Given the description of an element on the screen output the (x, y) to click on. 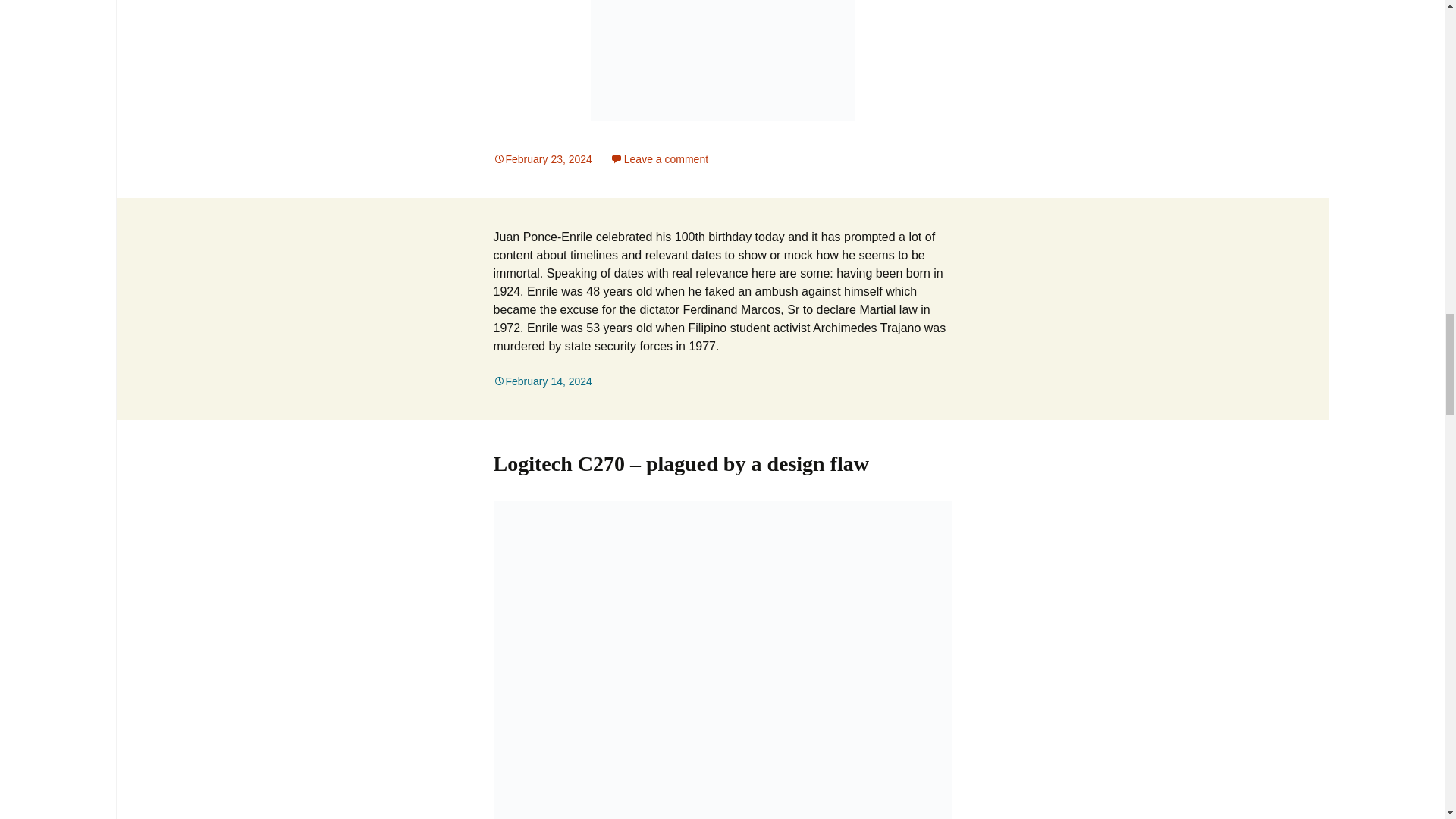
Permalink to Hello there, Copilot (542, 159)
Leave a comment (658, 159)
February 14, 2024 (542, 381)
February 23, 2024 (542, 159)
